Given the description of an element on the screen output the (x, y) to click on. 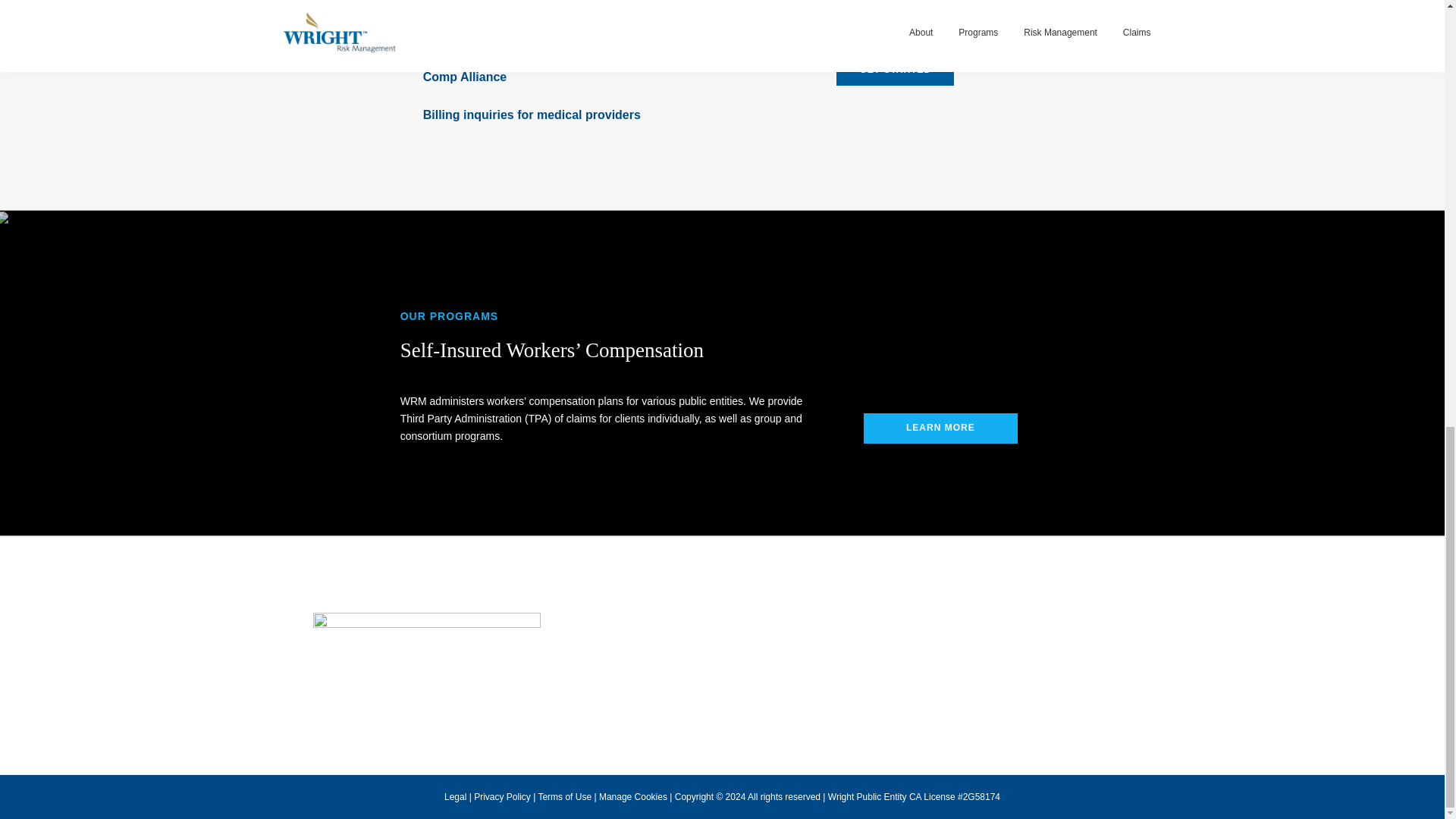
Manage Cookies (632, 796)
Risk Management (1060, 640)
Legal (454, 796)
GET STARTED (894, 70)
News (755, 658)
Company History (778, 640)
Self-Insured Work Comp (933, 658)
Comp Alliance (912, 640)
Terms of Use (564, 796)
LEARN MORE (940, 428)
